Given the description of an element on the screen output the (x, y) to click on. 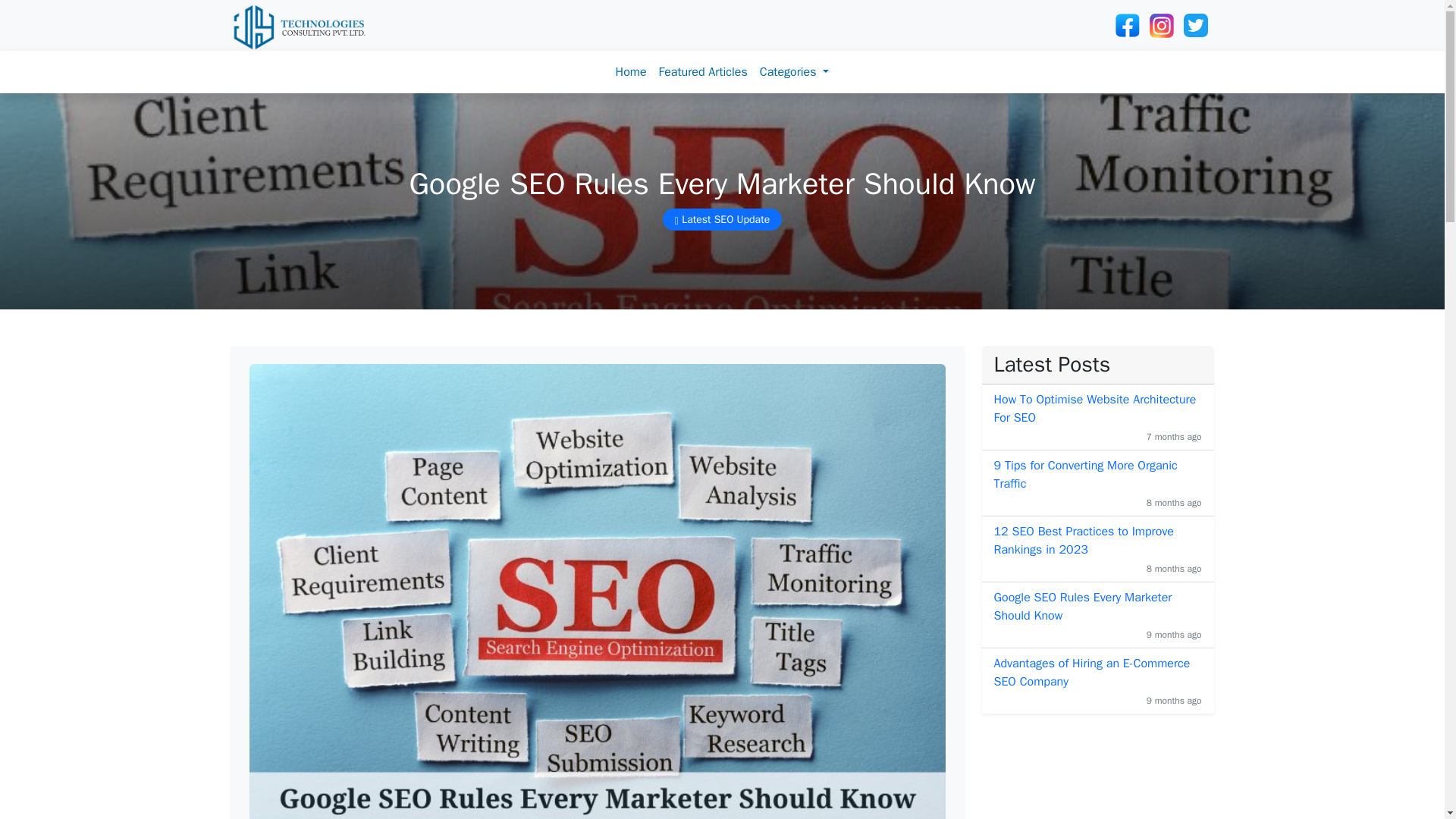
Google SEO Rules Every Marketer Should Know (1096, 606)
How To Optimise Website Architecture For SEO (1096, 408)
Advantages of Hiring an E-Commerce SEO Company (1096, 672)
Home (631, 71)
9 Tips for Converting More Organic Traffic (1096, 474)
Categories (794, 71)
12 SEO Best Practices to Improve Rankings in 2023 (1096, 540)
Featured Articles (702, 71)
